Given the description of an element on the screen output the (x, y) to click on. 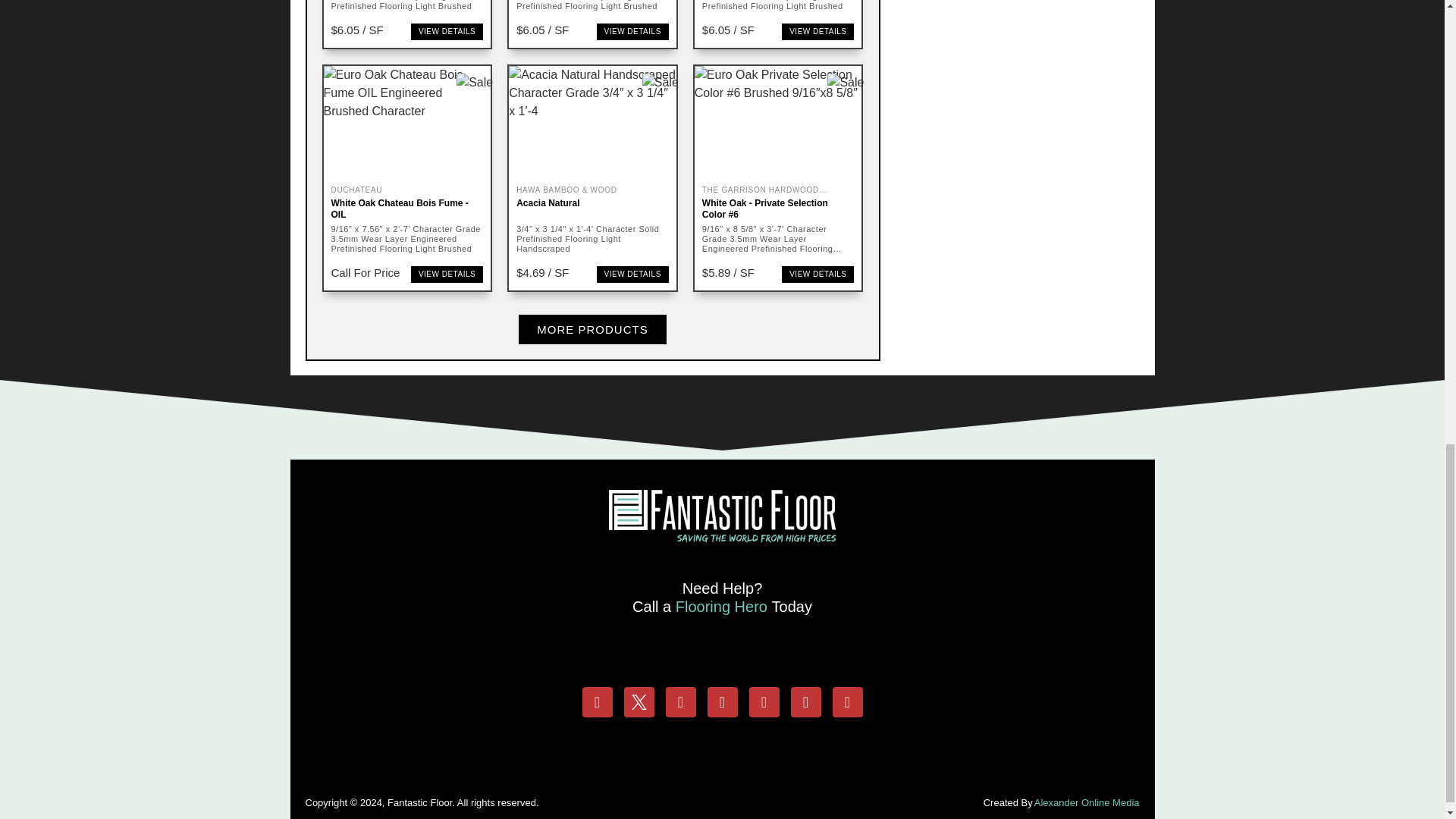
Acacia Natural Character Solid Prefinished Flooring (592, 122)
